Given the description of an element on the screen output the (x, y) to click on. 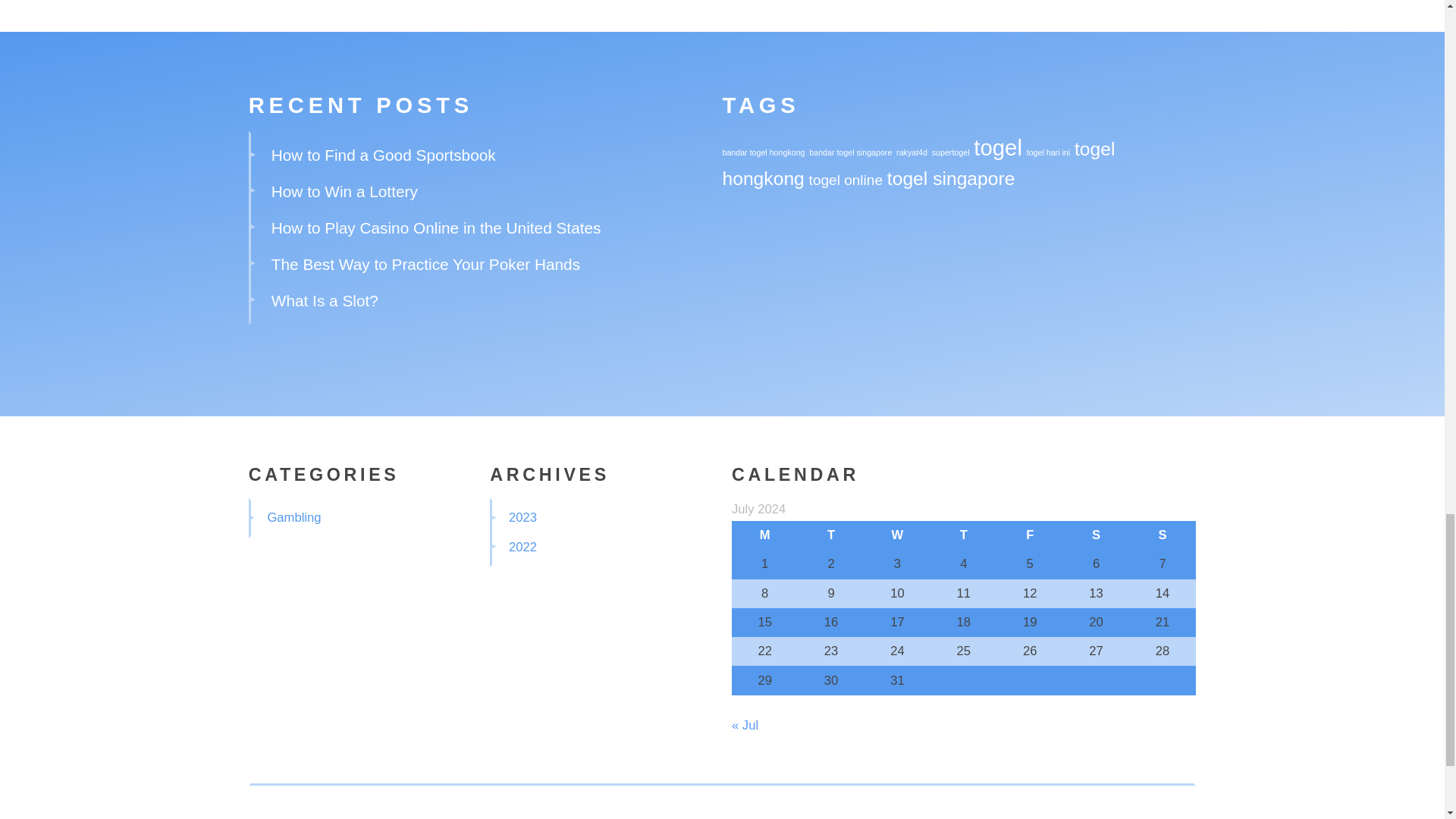
The Best Way to Practice Your Poker Hands (424, 263)
Monday (764, 534)
supertogel (950, 152)
rakyat4d (911, 152)
Thursday (962, 534)
Friday (1029, 534)
How to Play Casino Online in the United States (435, 227)
togel hongkong (918, 163)
How to Find a Good Sportsbook (383, 154)
togel online (845, 179)
bandar togel singapore (850, 152)
How to Win a Lottery (343, 190)
togel hari ini (1048, 152)
2022 (522, 546)
Tuesday (830, 534)
